Given the description of an element on the screen output the (x, y) to click on. 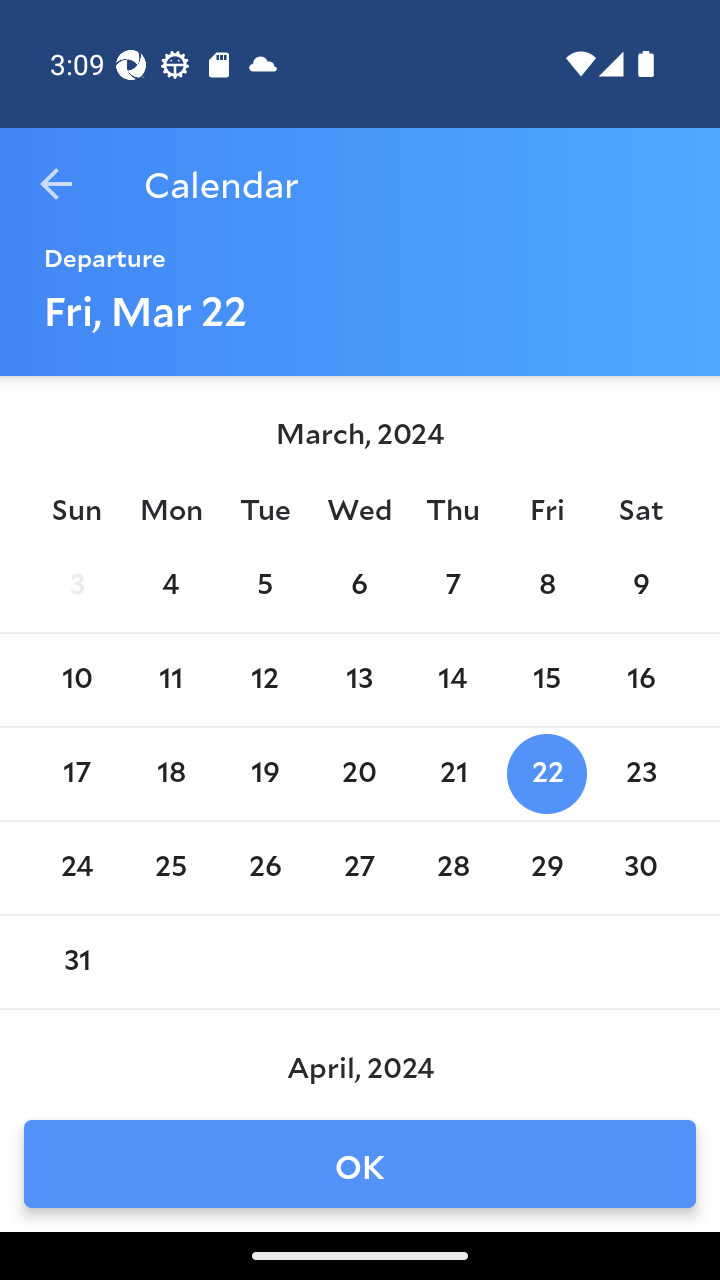
Navigate up (56, 184)
3 (76, 585)
4 (170, 585)
5 (264, 585)
6 (358, 585)
7 (453, 585)
8 (546, 585)
9 (641, 585)
10 (76, 679)
11 (170, 679)
12 (264, 679)
13 (358, 679)
14 (453, 679)
15 (546, 679)
16 (641, 679)
17 (76, 773)
18 (170, 773)
19 (264, 773)
20 (358, 773)
21 (453, 773)
22 (546, 773)
23 (641, 773)
24 (76, 867)
25 (170, 867)
26 (264, 867)
27 (358, 867)
28 (453, 867)
29 (546, 867)
30 (641, 867)
31 (76, 961)
OK (359, 1164)
